Given the description of an element on the screen output the (x, y) to click on. 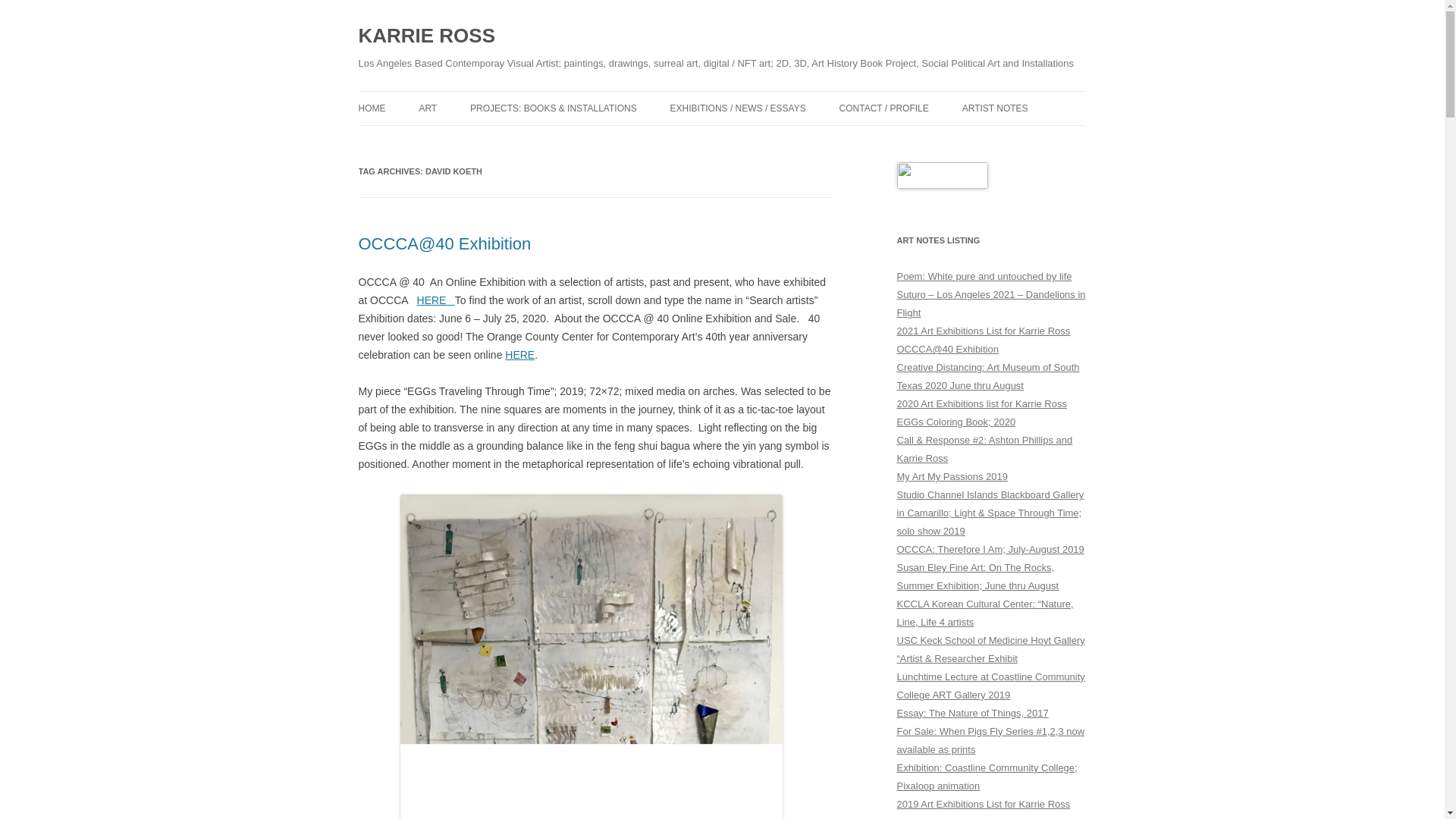
CONTACT (915, 140)
NEWS (745, 140)
ART GALLERIES (494, 140)
HERE   (435, 300)
KARRIE ROSS (426, 36)
HERE (519, 354)
ARTIST NOTES (994, 108)
